Given the description of an element on the screen output the (x, y) to click on. 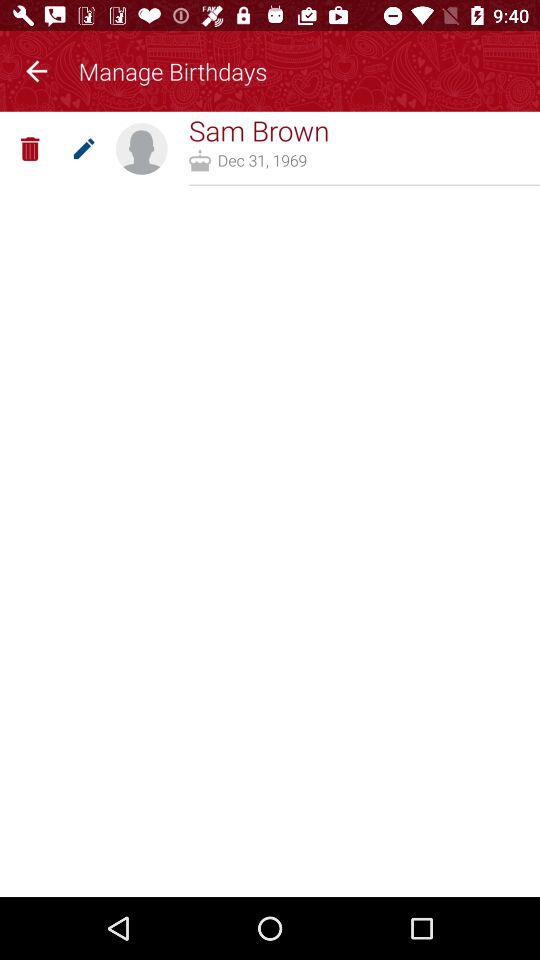
flip until dec 31, 1969 icon (262, 160)
